Given the description of an element on the screen output the (x, y) to click on. 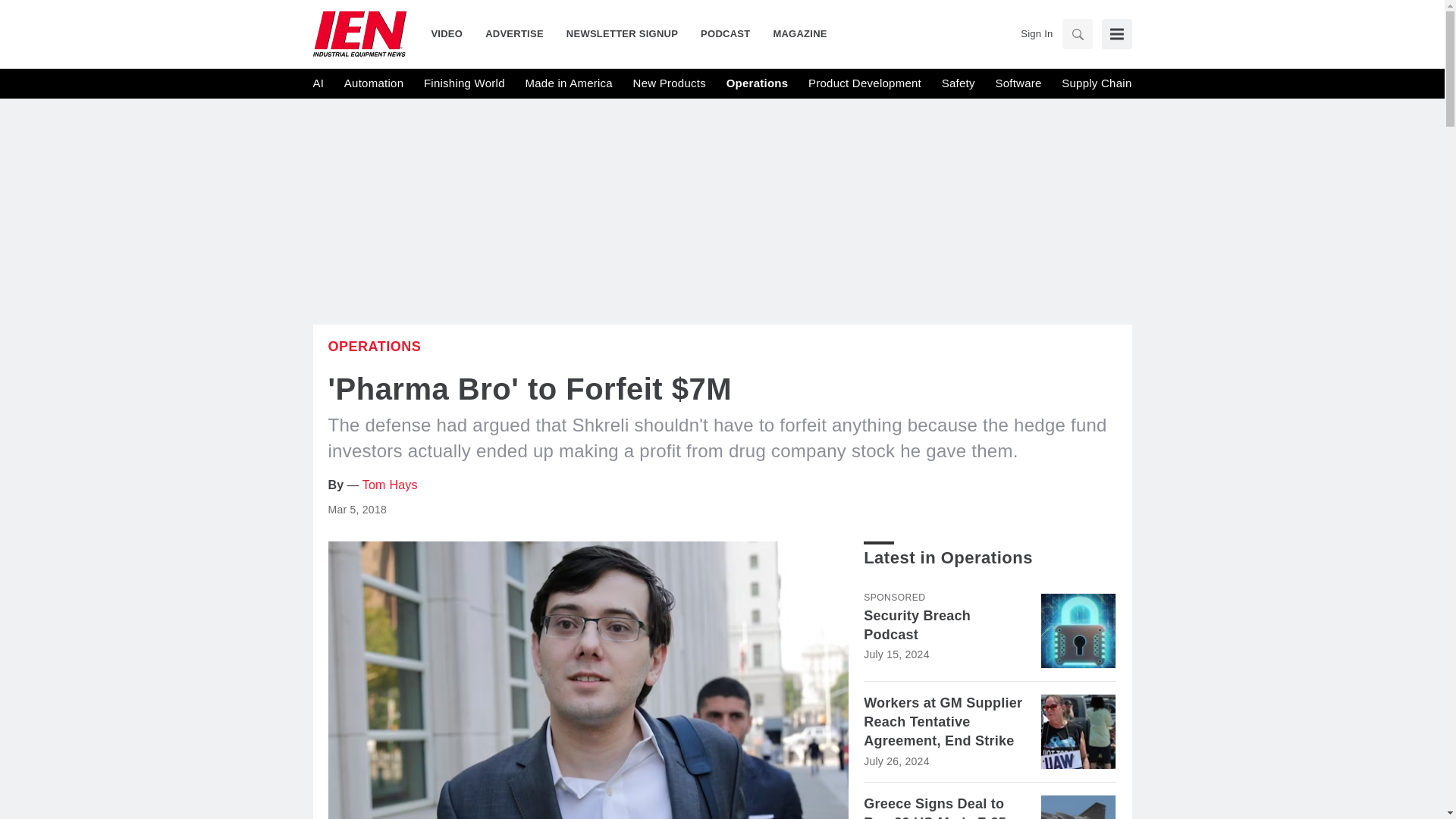
VIDEO (452, 33)
Automation (373, 83)
NEWSLETTER SIGNUP (621, 33)
Sponsored (893, 596)
Safety (958, 83)
New Products (669, 83)
Finishing World (464, 83)
Operations (757, 83)
Operations (373, 346)
PODCAST (724, 33)
Supply Chain (1096, 83)
Sign In (1036, 33)
Product Development (864, 83)
Made in America (567, 83)
ADVERTISE (514, 33)
